Given the description of an element on the screen output the (x, y) to click on. 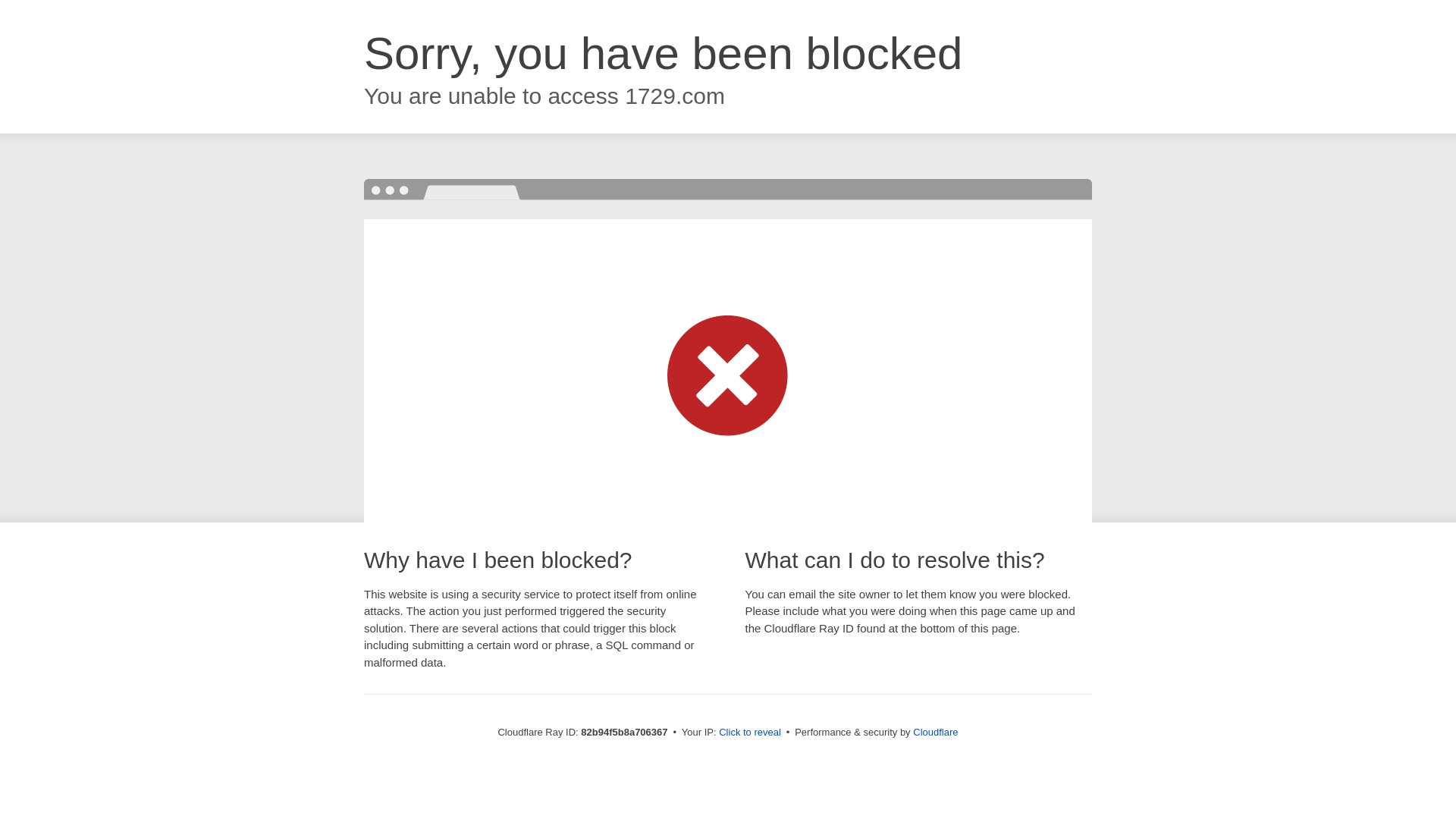
Click to reveal Element type: text (749, 732)
Cloudflare Element type: text (935, 731)
